Given the description of an element on the screen output the (x, y) to click on. 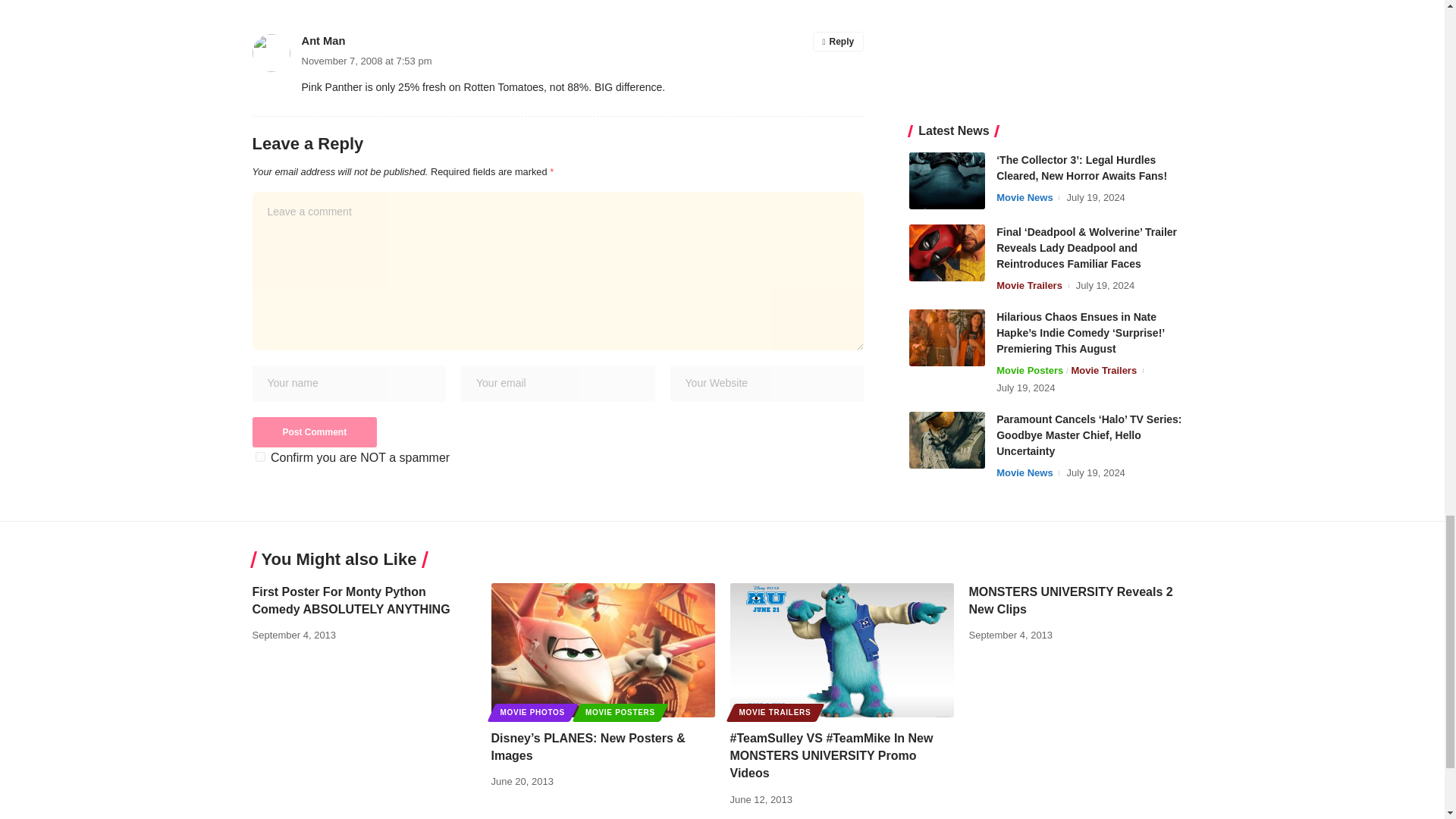
Post Comment (314, 431)
on (259, 456)
